Given the description of an element on the screen output the (x, y) to click on. 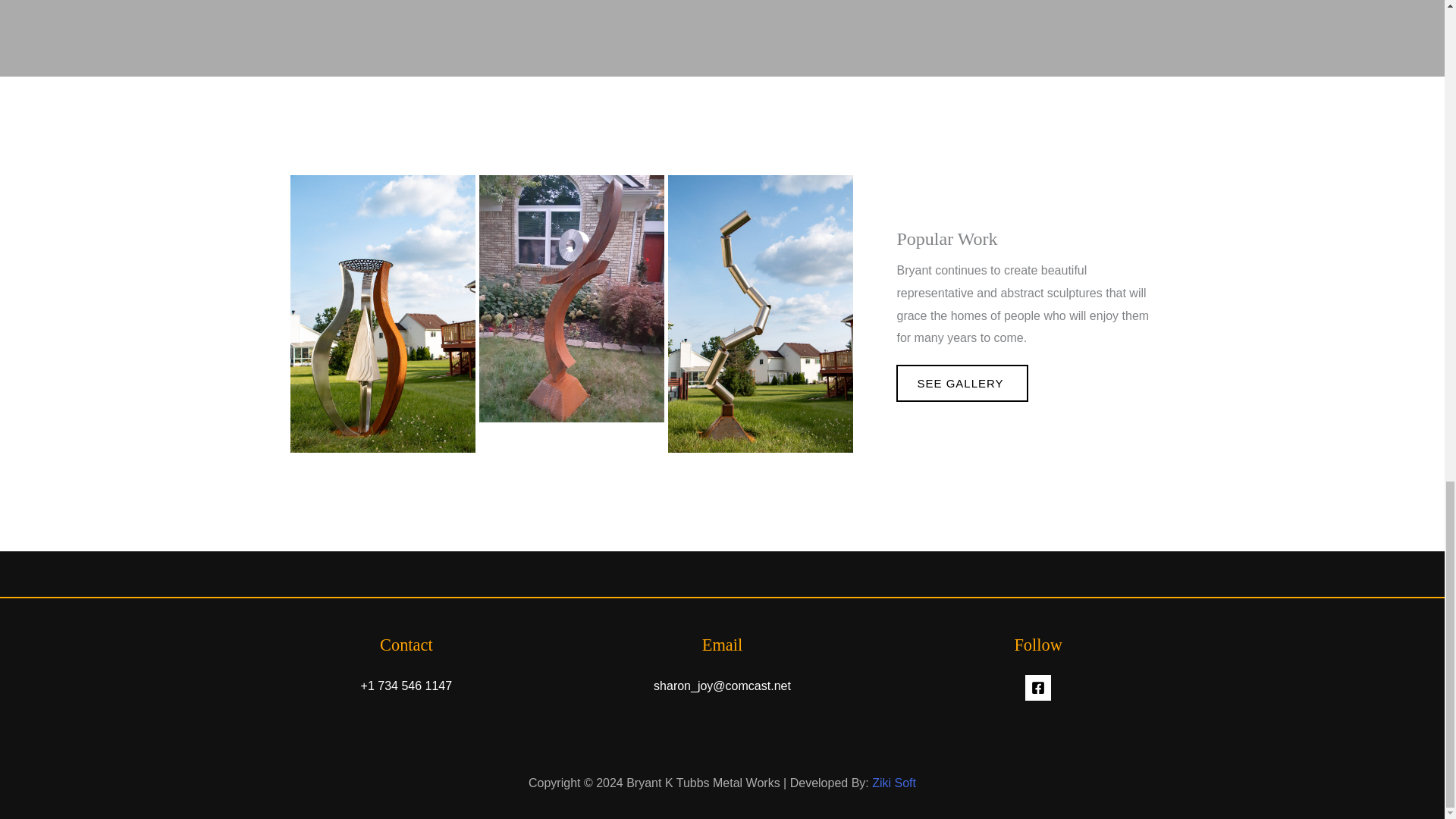
SEE GALLERY (961, 383)
Ziki Soft (893, 782)
